Given the description of an element on the screen output the (x, y) to click on. 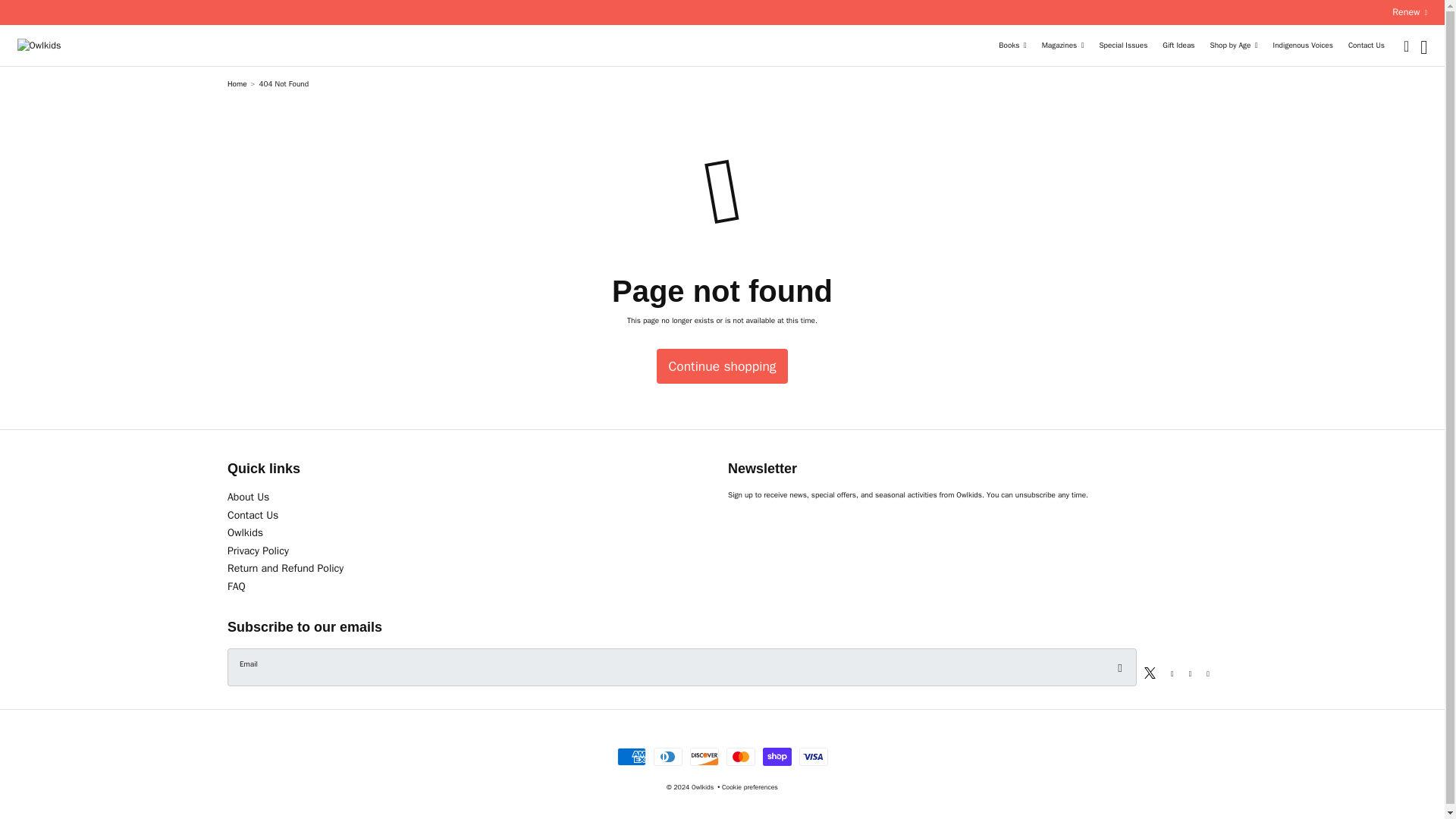
Magazines (1062, 45)
Gift Ideas (1178, 45)
Shop by Age (1233, 45)
Special Issues (1122, 45)
Home (237, 83)
Books (1012, 45)
Renew (1408, 12)
